Given the description of an element on the screen output the (x, y) to click on. 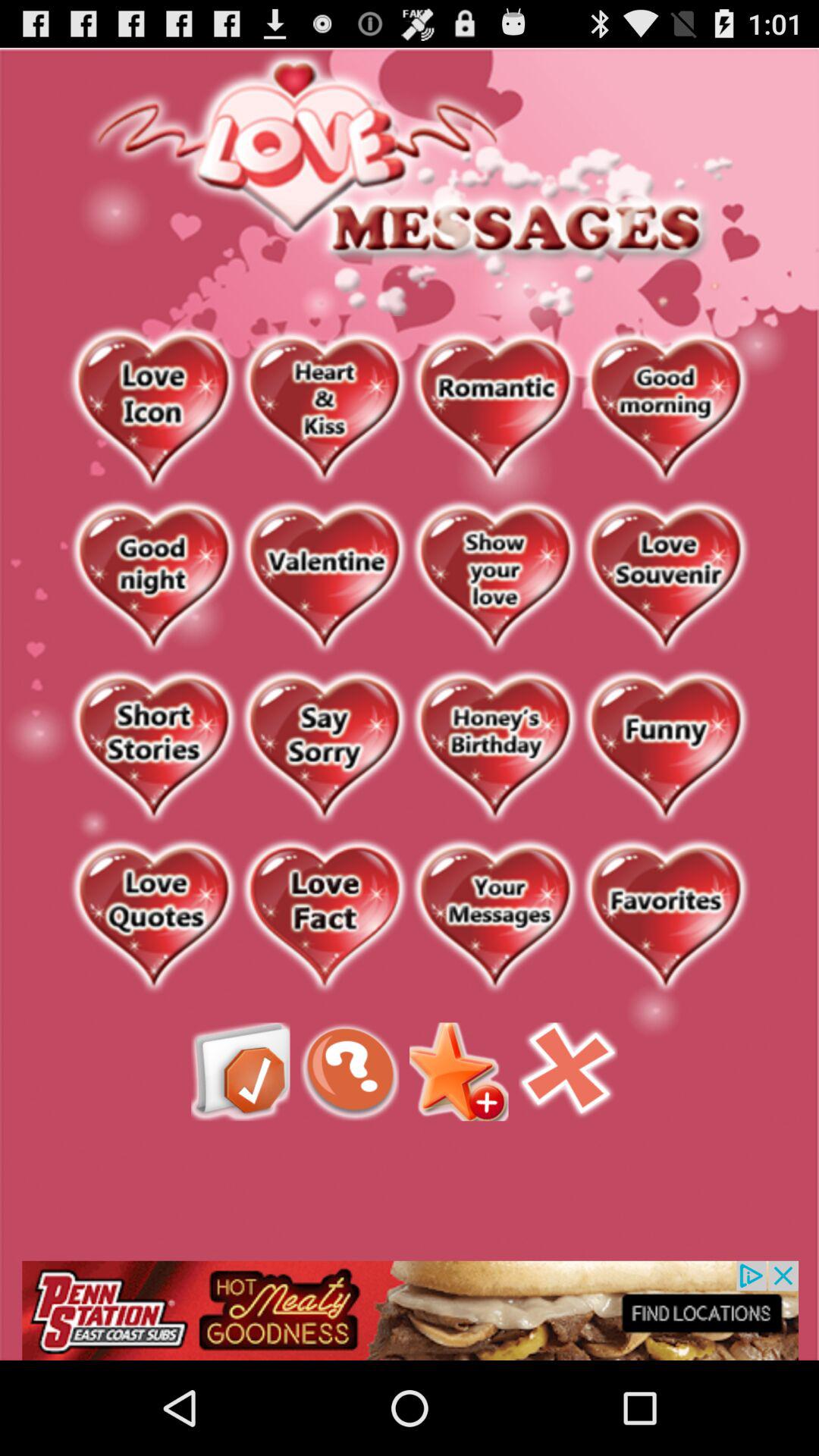
open penn station advertisement (409, 1310)
